Given the description of an element on the screen output the (x, y) to click on. 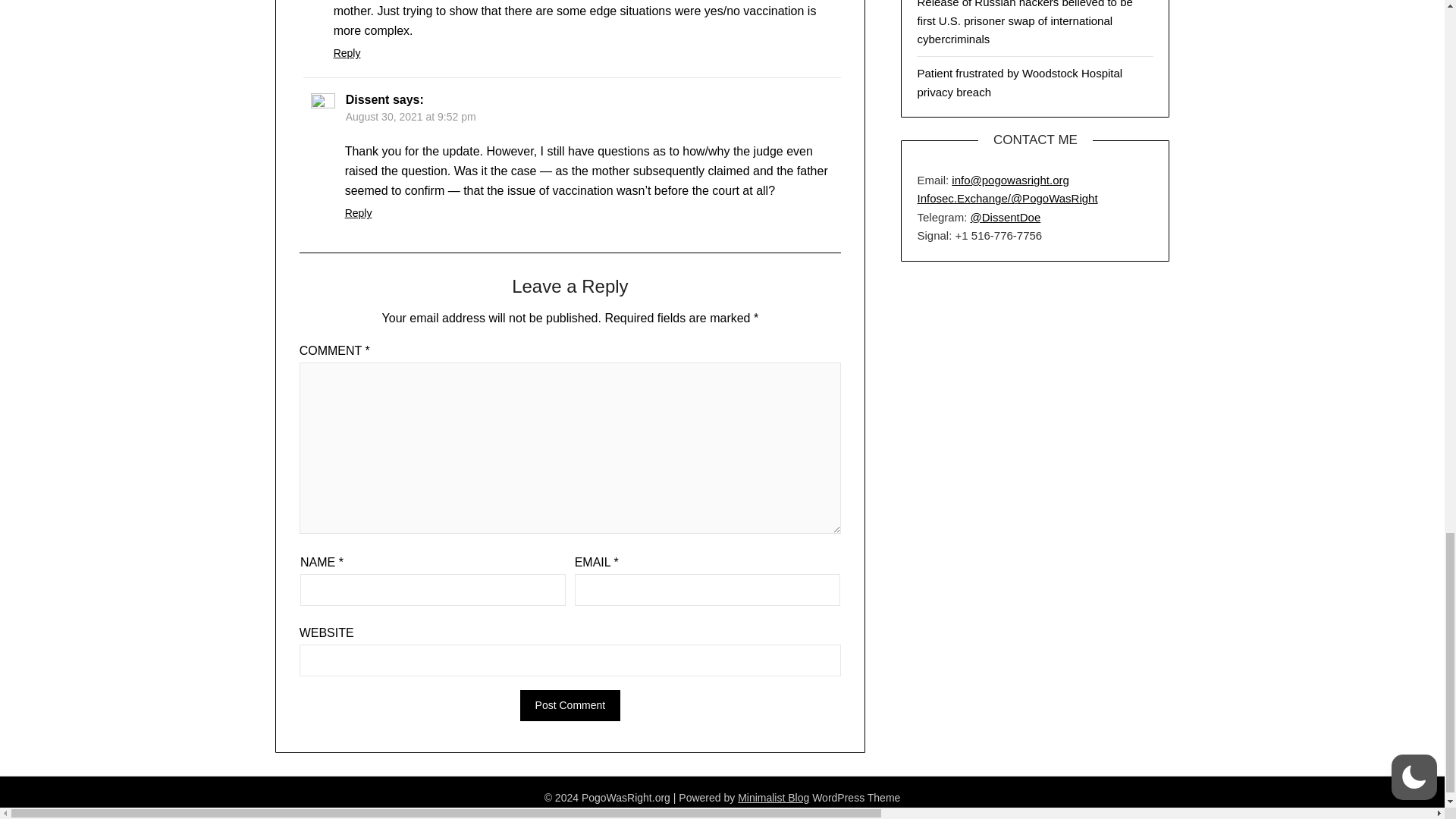
Reply (358, 213)
Minimalist Blog (773, 797)
Post Comment (570, 705)
Reply (347, 52)
Post Comment (570, 705)
Patient frustrated by Woodstock Hospital privacy breach (1019, 81)
August 30, 2021 at 9:52 pm (411, 116)
